Given the description of an element on the screen output the (x, y) to click on. 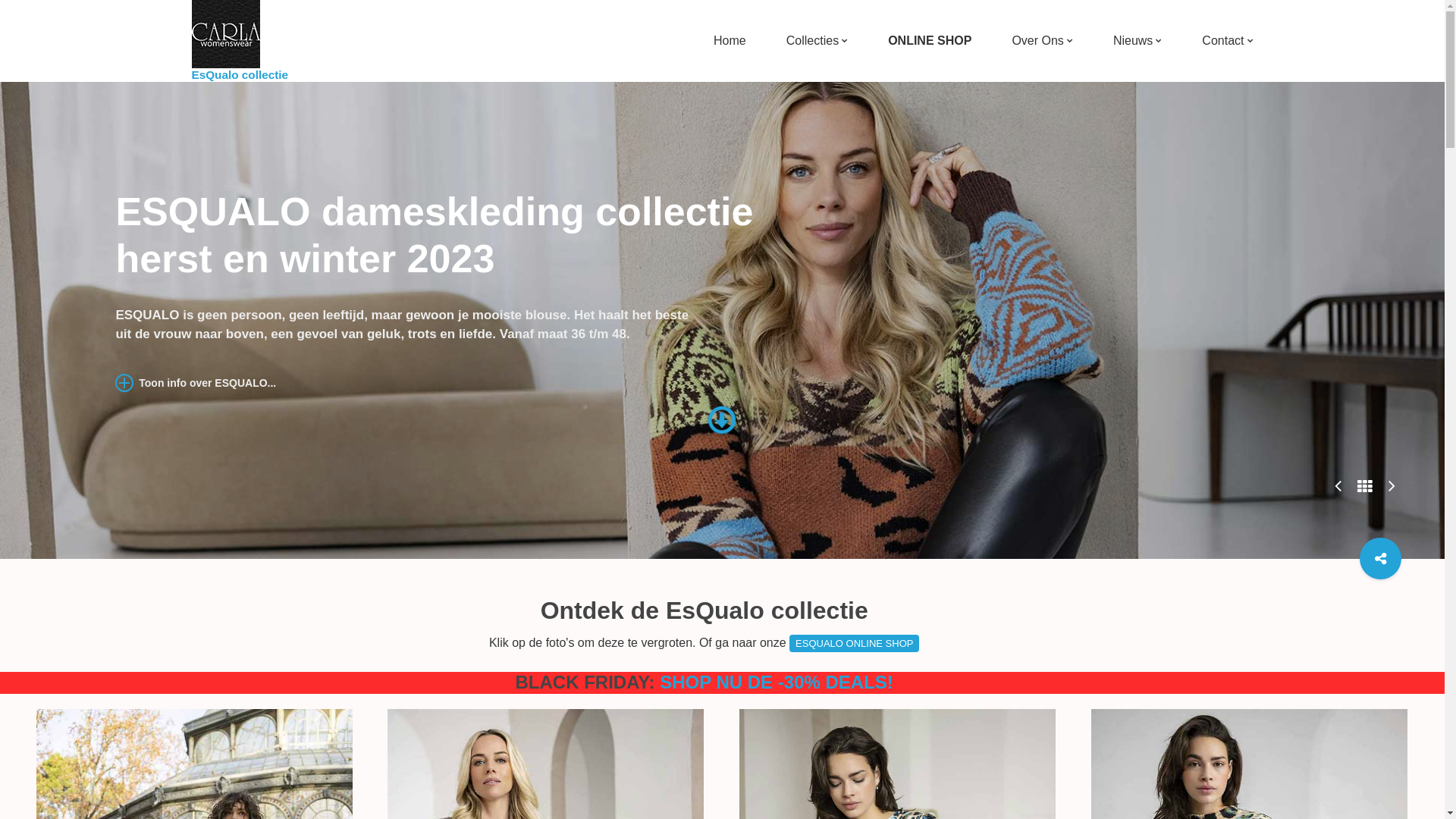
Terug naar merken overzicht Element type: hover (1364, 486)
ONLINE SHOP Element type: text (929, 40)
Vorige Merk Element type: hover (1338, 483)
Nieuws Element type: text (1132, 40)
SHOP NU DE -30% DEALS! Element type: text (776, 681)
Home Element type: text (729, 40)
Volgende Merk Element type: hover (1391, 483)
EsQualo collectie Element type: text (239, 40)
Over Ons Element type: text (1037, 40)
ESQUALO ONLINE SHOP Element type: text (854, 643)
Collecties Element type: text (812, 40)
Deel deze pagina Element type: hover (1380, 558)
Contact Element type: text (1222, 40)
Toon info over ESQUALO... Element type: text (195, 379)
